Given the description of an element on the screen output the (x, y) to click on. 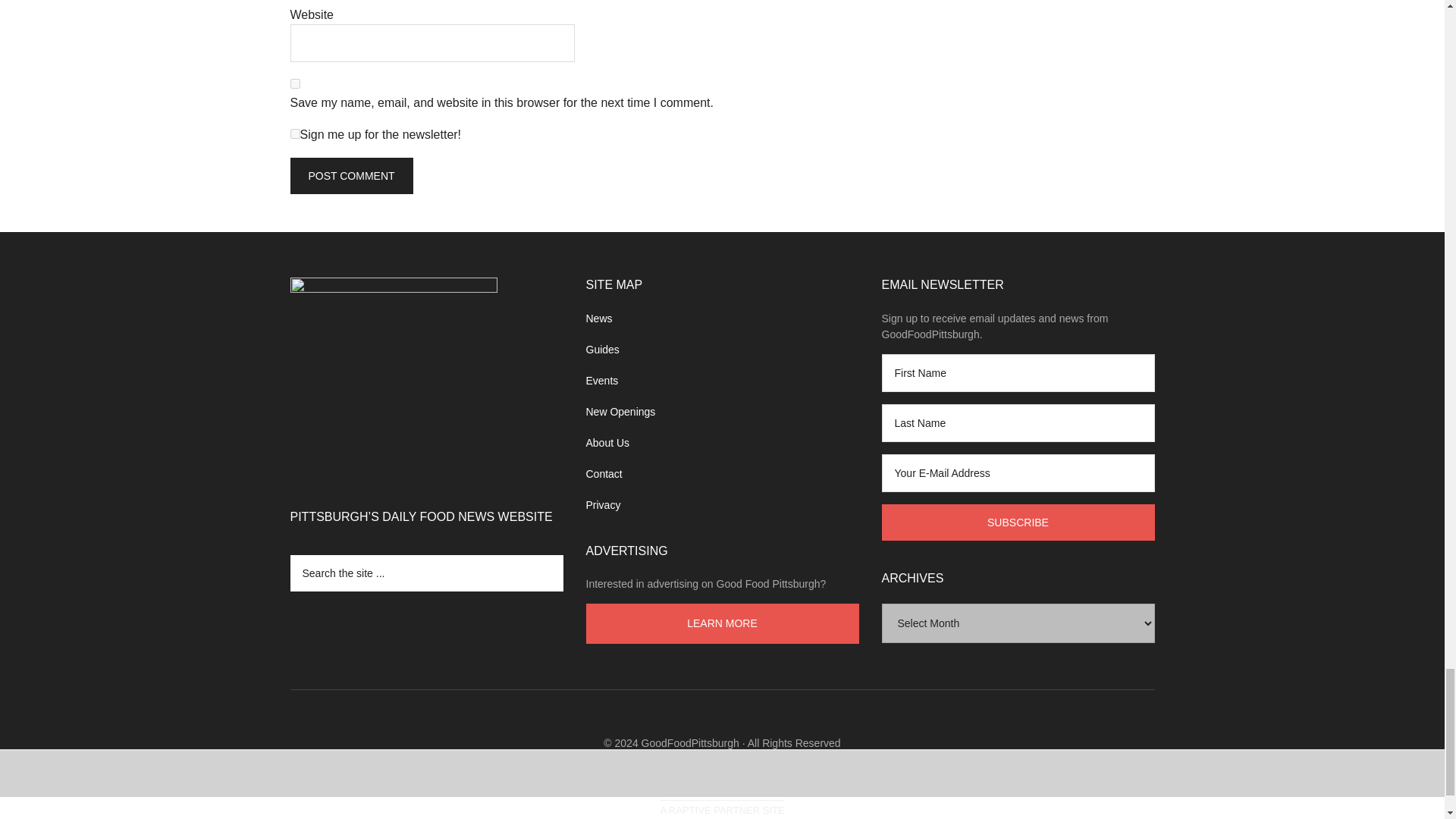
yes (294, 83)
Post Comment (350, 176)
Subscribe (1017, 522)
1 (294, 133)
Post Comment (350, 176)
